Given the description of an element on the screen output the (x, y) to click on. 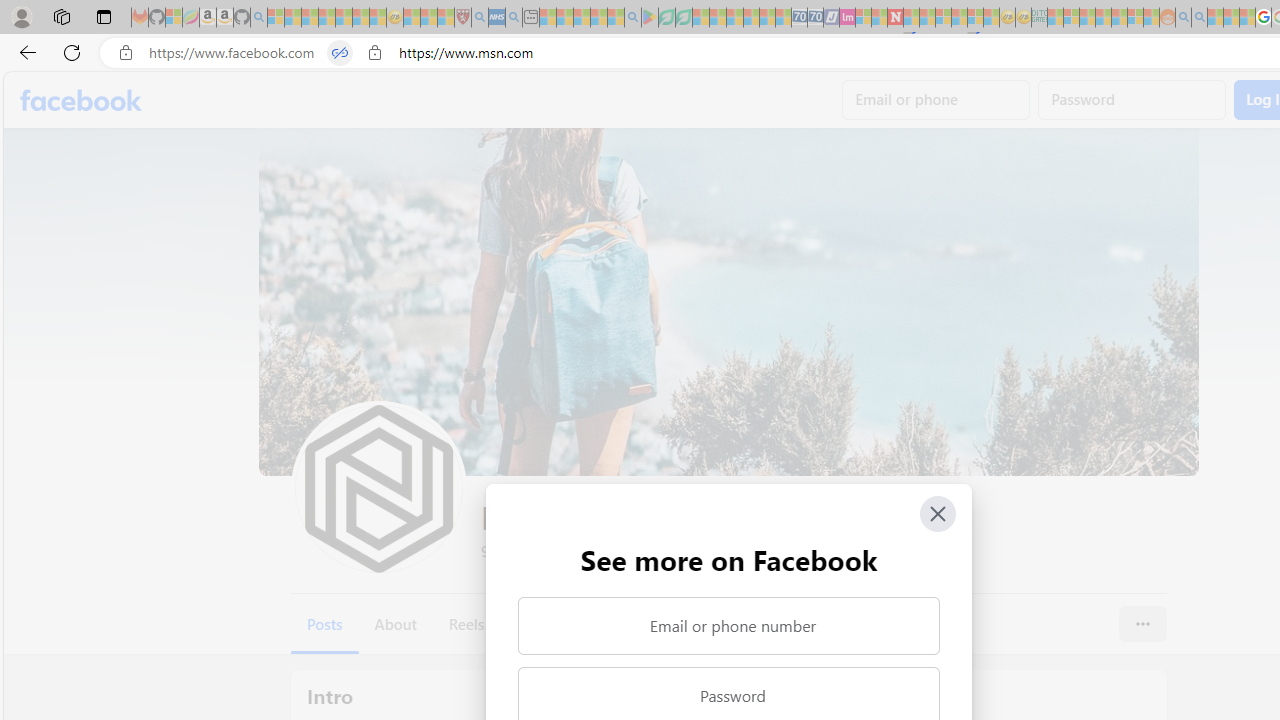
Email or phone number (728, 625)
Cheap Hotels - Save70.com - Sleeping (815, 17)
The Weather Channel - MSN - Sleeping (309, 17)
Tabs in split screen (339, 53)
